Given the description of an element on the screen output the (x, y) to click on. 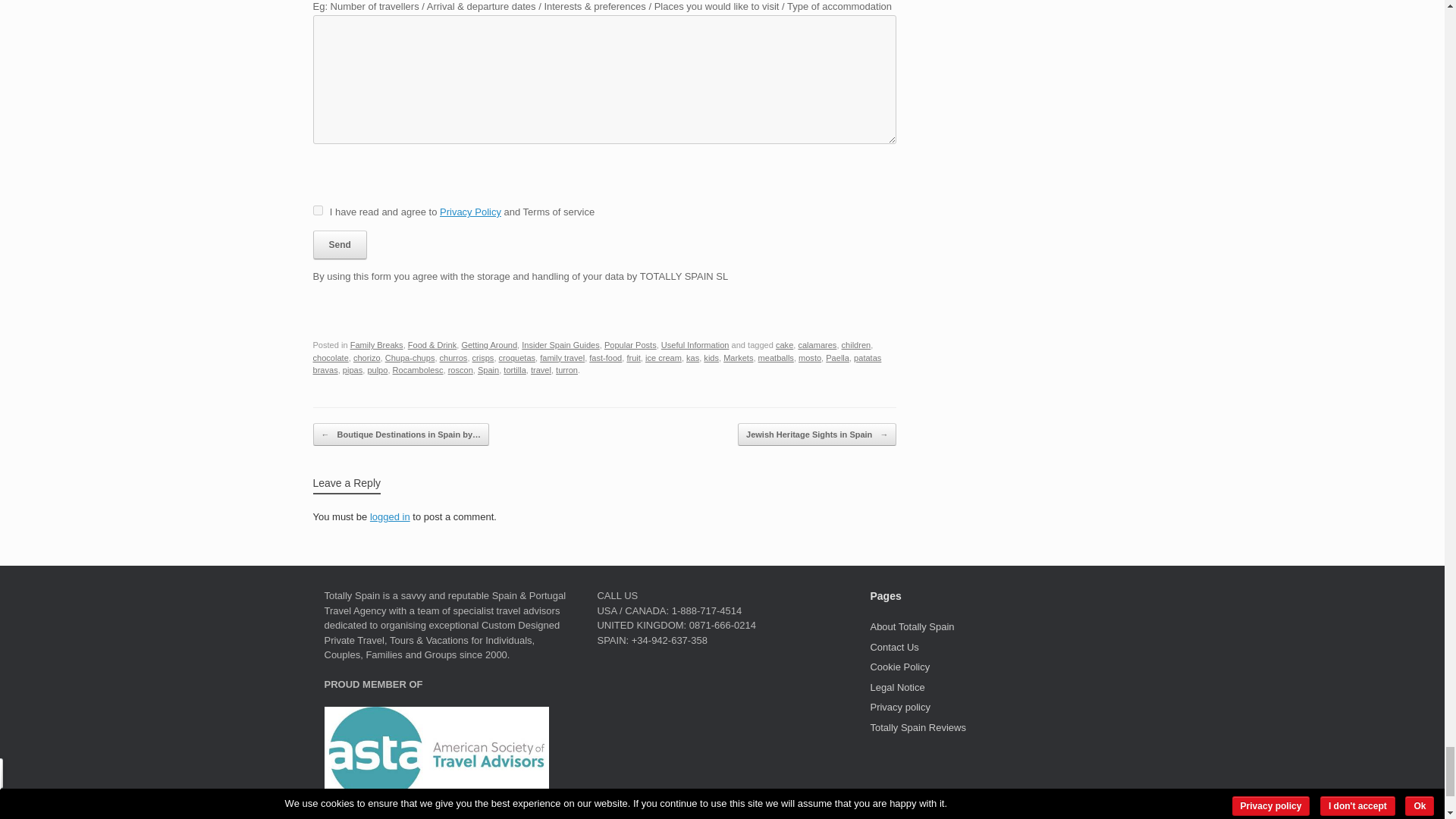
Send (339, 244)
1 (317, 210)
